Given the description of an element on the screen output the (x, y) to click on. 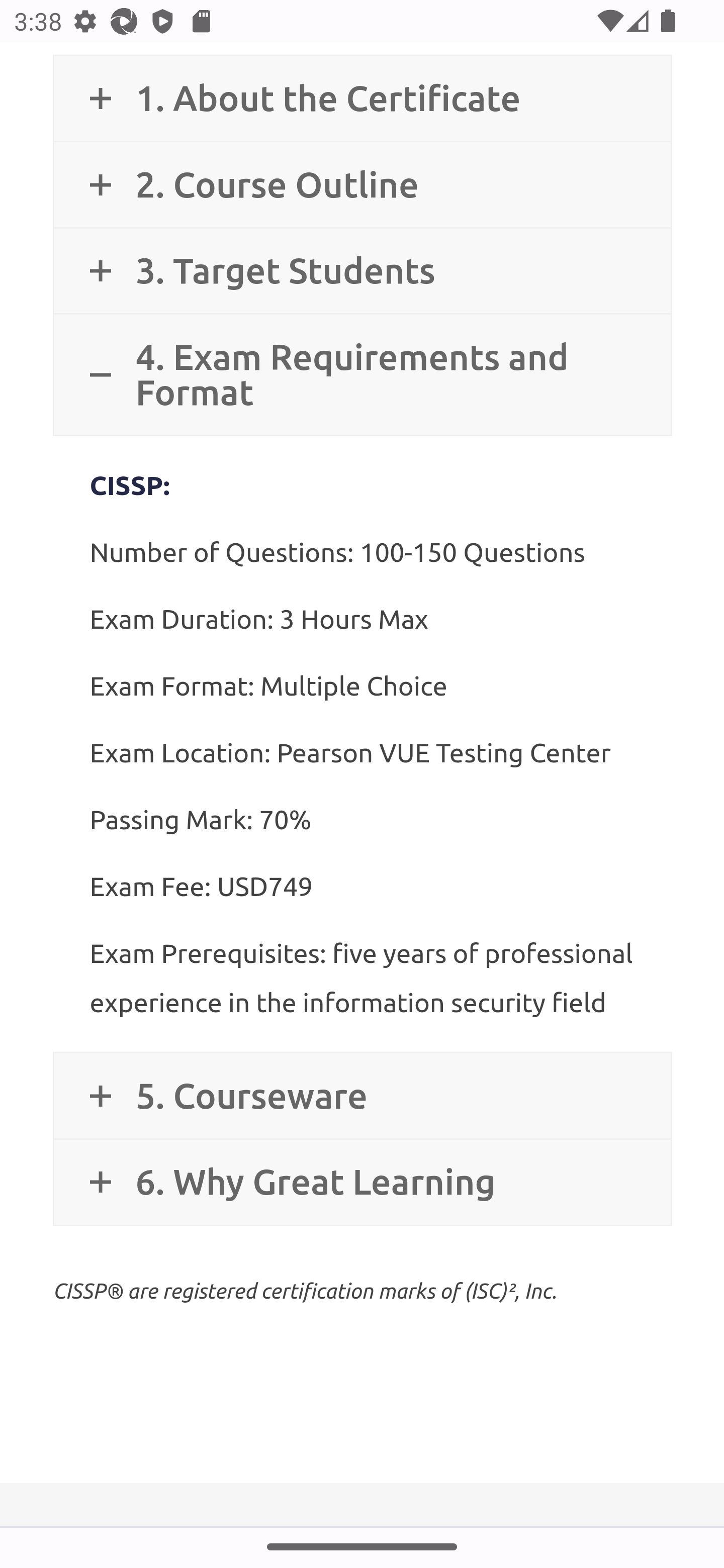
5. Courseware 5. Courseware 5. Courseware (361, 1096)
